Given the description of an element on the screen output the (x, y) to click on. 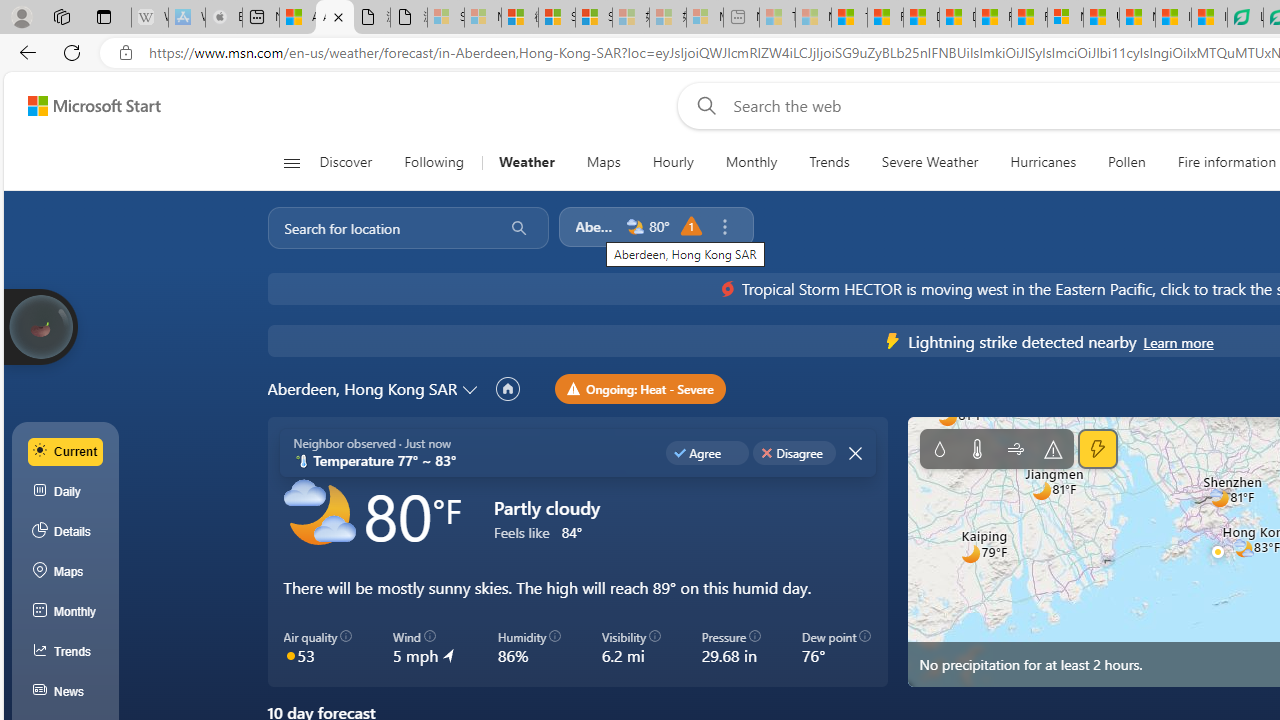
News (65, 692)
Marine life - MSN - Sleeping (813, 17)
Top Stories - MSN - Sleeping (777, 17)
Trends (829, 162)
Join us in planting real trees to help our planet! (40, 327)
Precipitation (939, 449)
Microsoft account | Account Checkup - Sleeping (705, 17)
Hourly (672, 162)
Lightning strike detected nearby (1178, 341)
Class: weatherEventAlertIcon-DS-EntryPoint1-1 (893, 340)
